Given the description of an element on the screen output the (x, y) to click on. 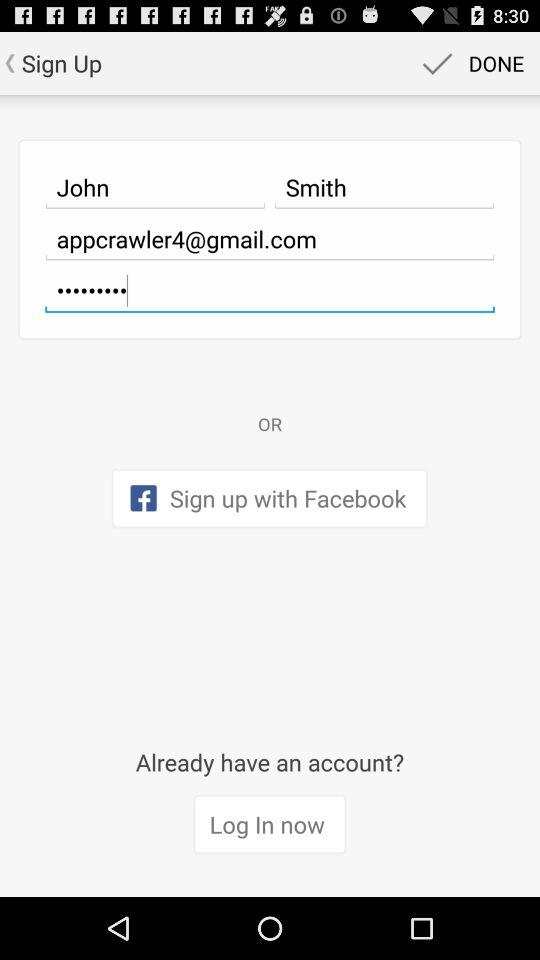
swipe to the done app (470, 62)
